Given the description of an element on the screen output the (x, y) to click on. 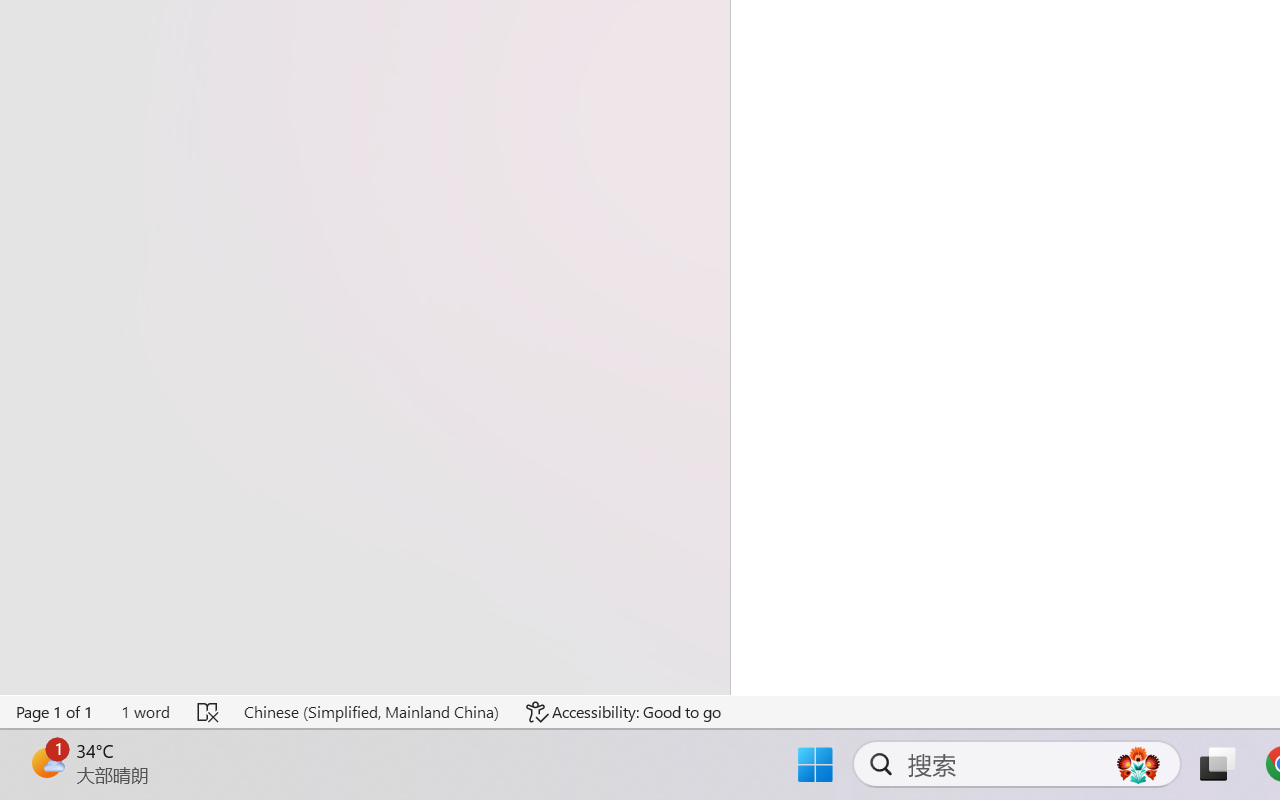
Spelling and Grammar Check Errors (208, 712)
Language Chinese (Simplified, Mainland China) (370, 712)
